Given the description of an element on the screen output the (x, y) to click on. 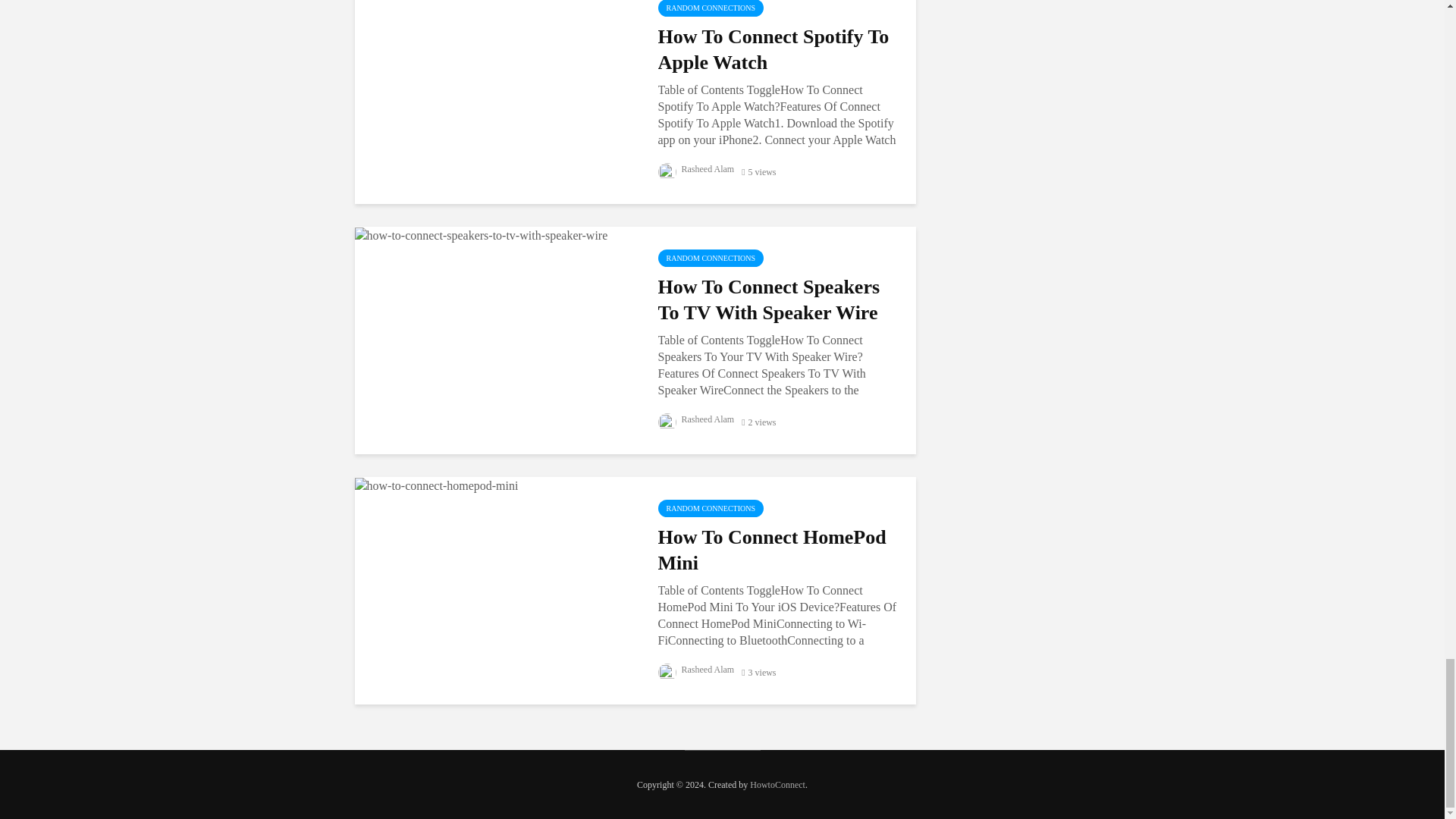
How To Connect Spotify To Apple Watch (778, 50)
How To Connect HomePod Mini (436, 484)
RANDOM CONNECTIONS (711, 257)
How To Connect Speakers To TV With Speaker Wire (778, 299)
RANDOM CONNECTIONS (711, 8)
How To Connect Speakers To TV With Speaker Wire (481, 234)
Rasheed Alam (696, 168)
